Given the description of an element on the screen output the (x, y) to click on. 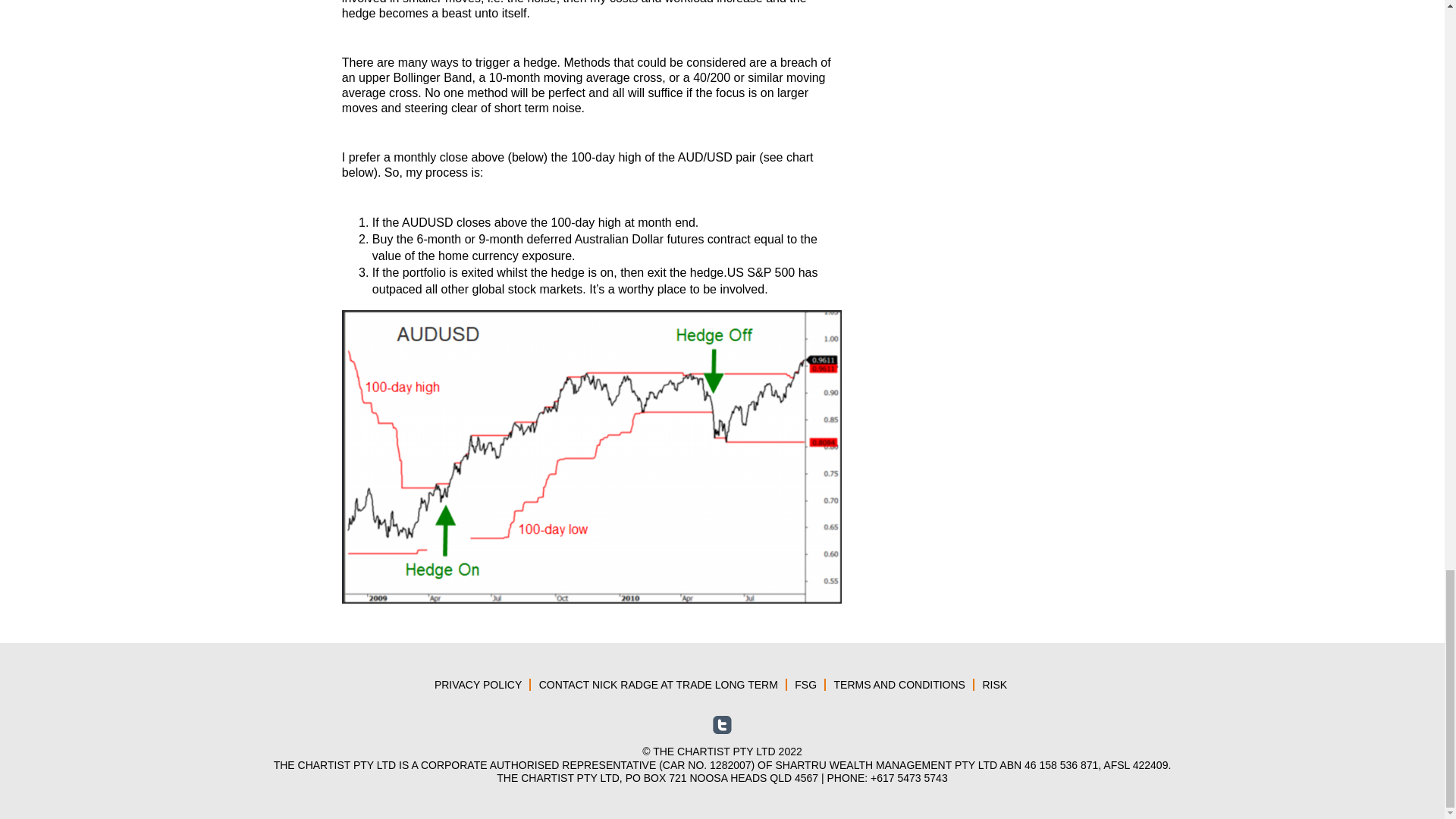
PRIVACY POLICY (480, 684)
TERMS AND CONDITIONS (901, 684)
RISK (995, 684)
FSG (807, 684)
CONTACT NICK RADGE AT TRADE LONG TERM (660, 684)
